Given the description of an element on the screen output the (x, y) to click on. 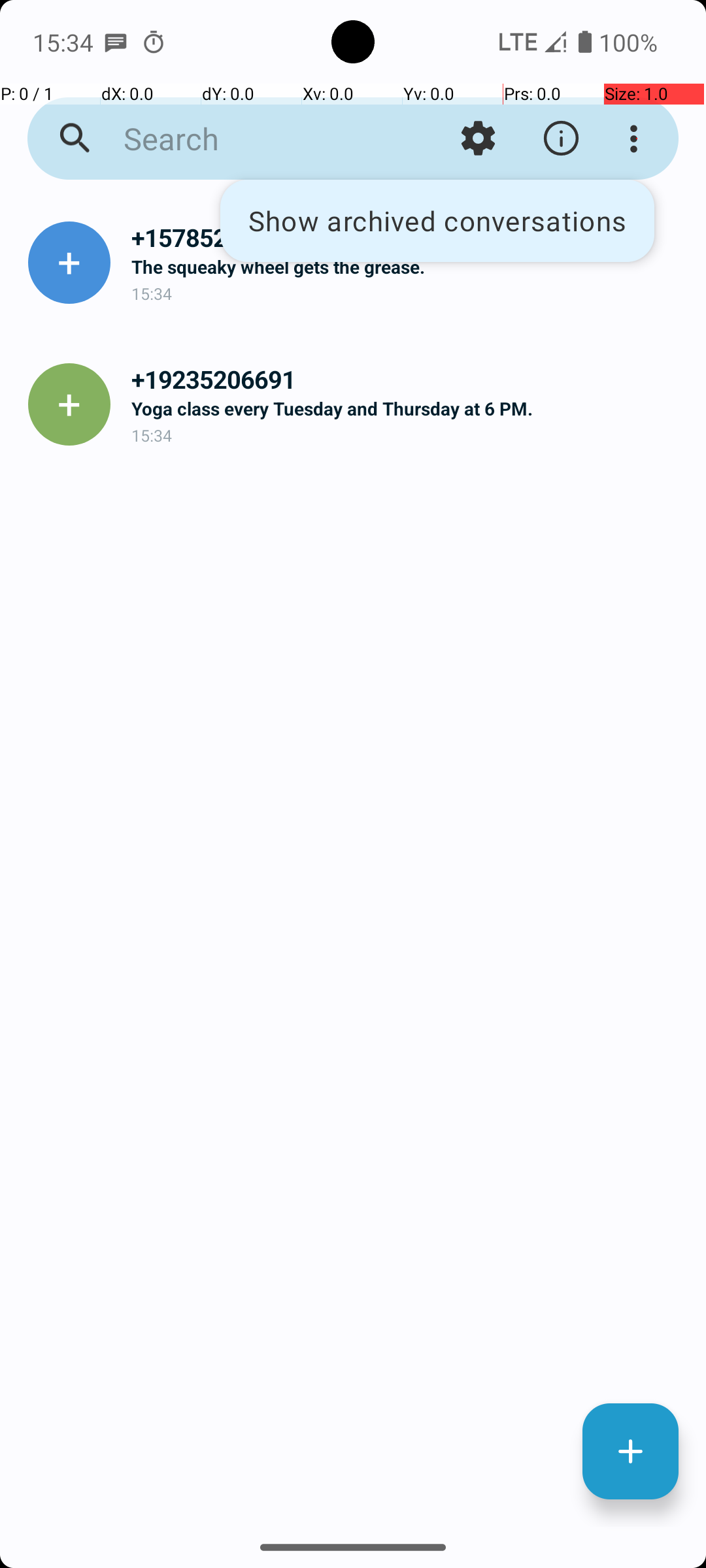
Show archived conversations Element type: android.widget.TextView (436, 220)
